Given the description of an element on the screen output the (x, y) to click on. 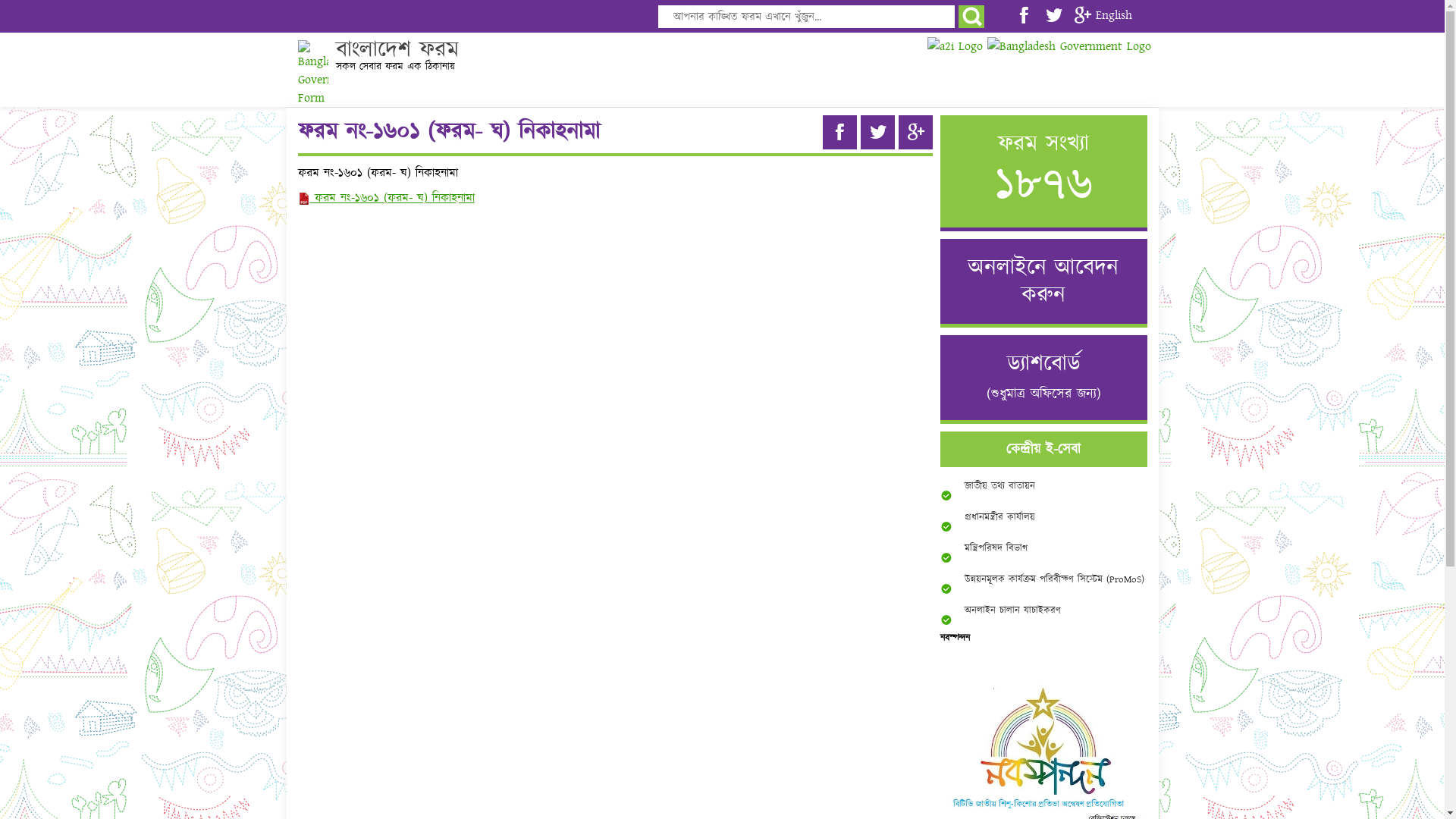
English Element type: text (1113, 15)
Home Element type: hover (312, 73)
Home Element type: hover (313, 73)
